Given the description of an element on the screen output the (x, y) to click on. 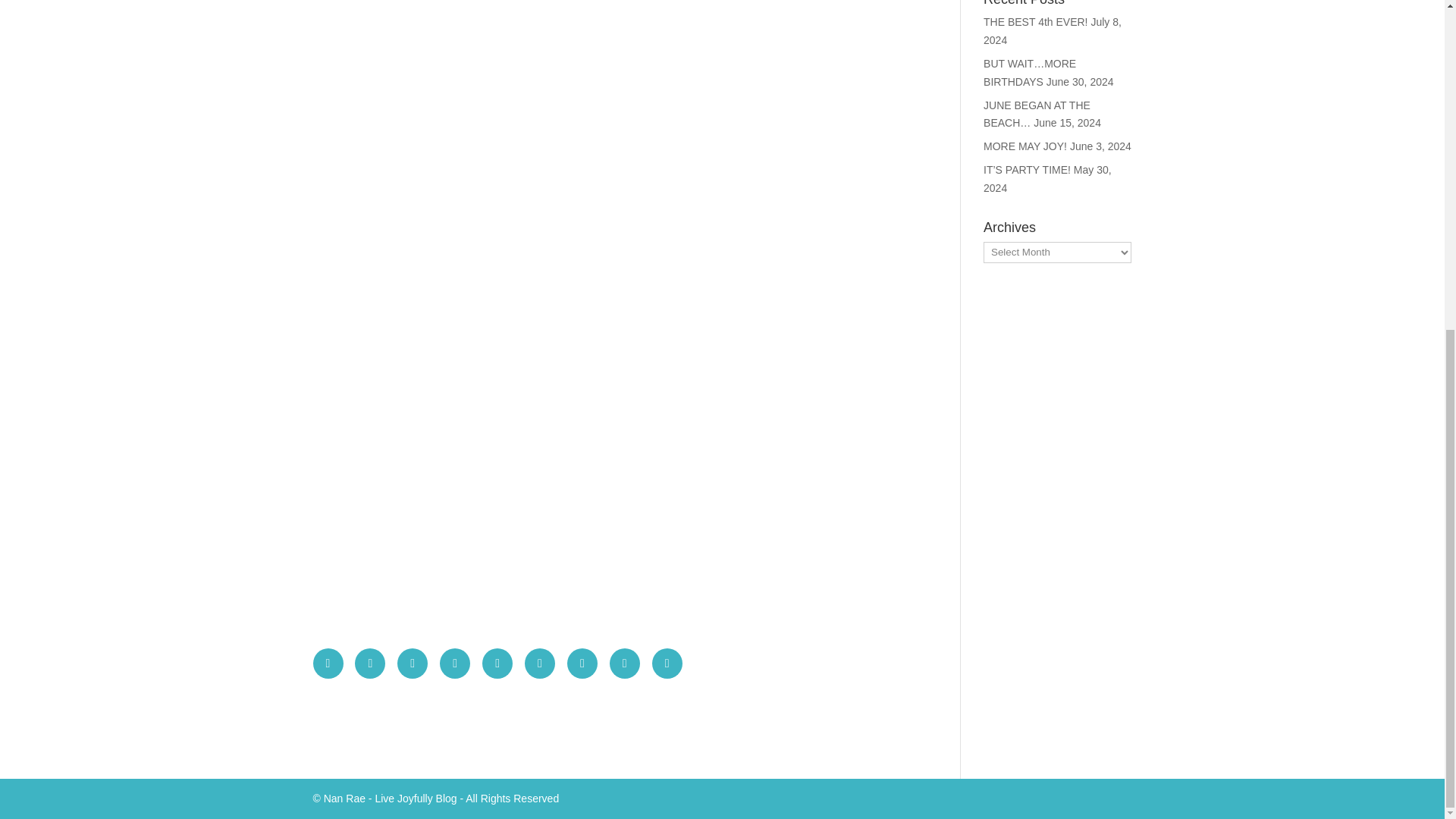
THE BEST 4th EVER! (1035, 21)
MORE MAY JOY! (1025, 146)
